Given the description of an element on the screen output the (x, y) to click on. 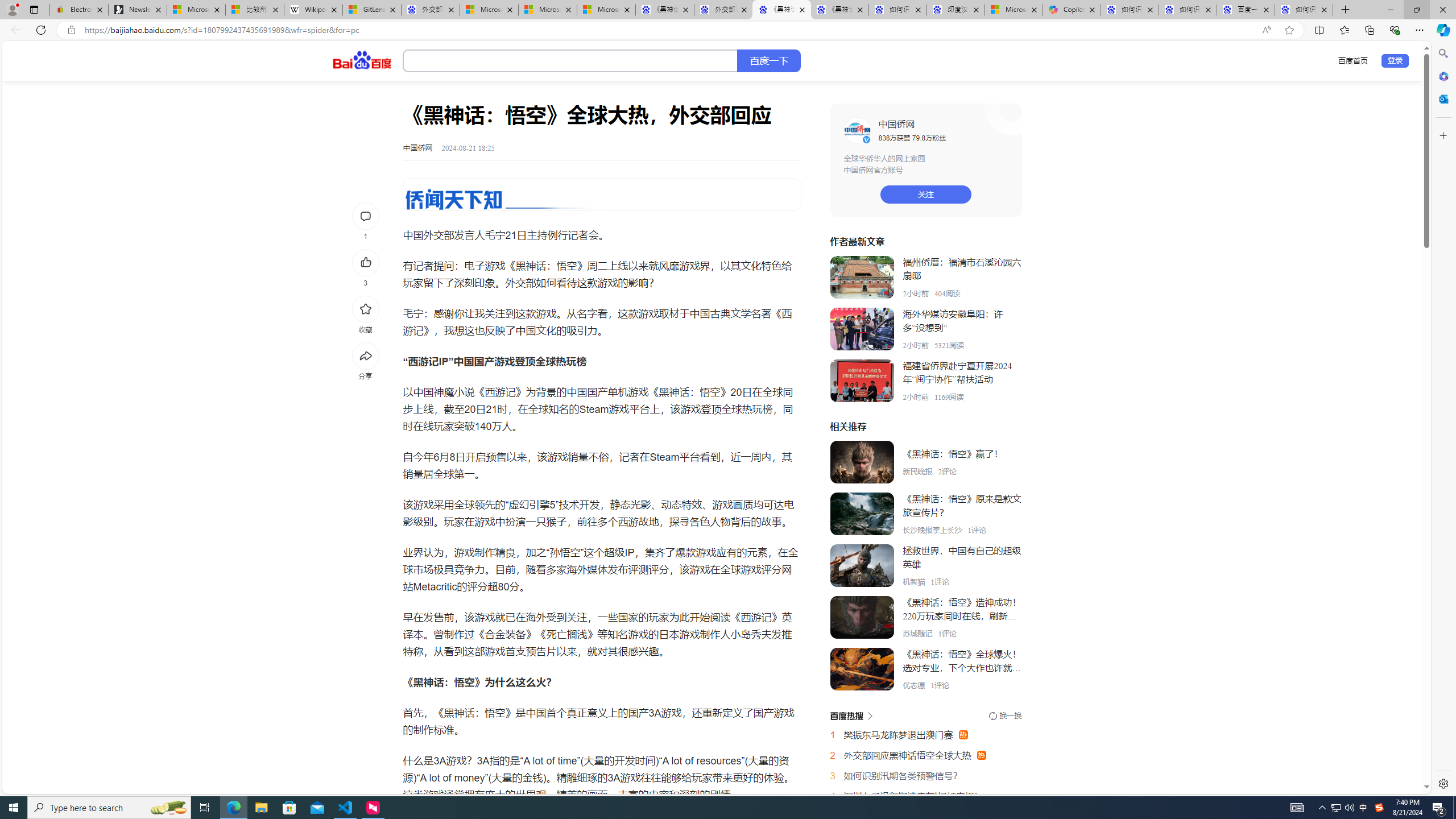
To get missing image descriptions, open the context menu. (601, 194)
Class: YHR87 (850, 715)
Newsletter Sign Up (137, 9)
